Given the description of an element on the screen output the (x, y) to click on. 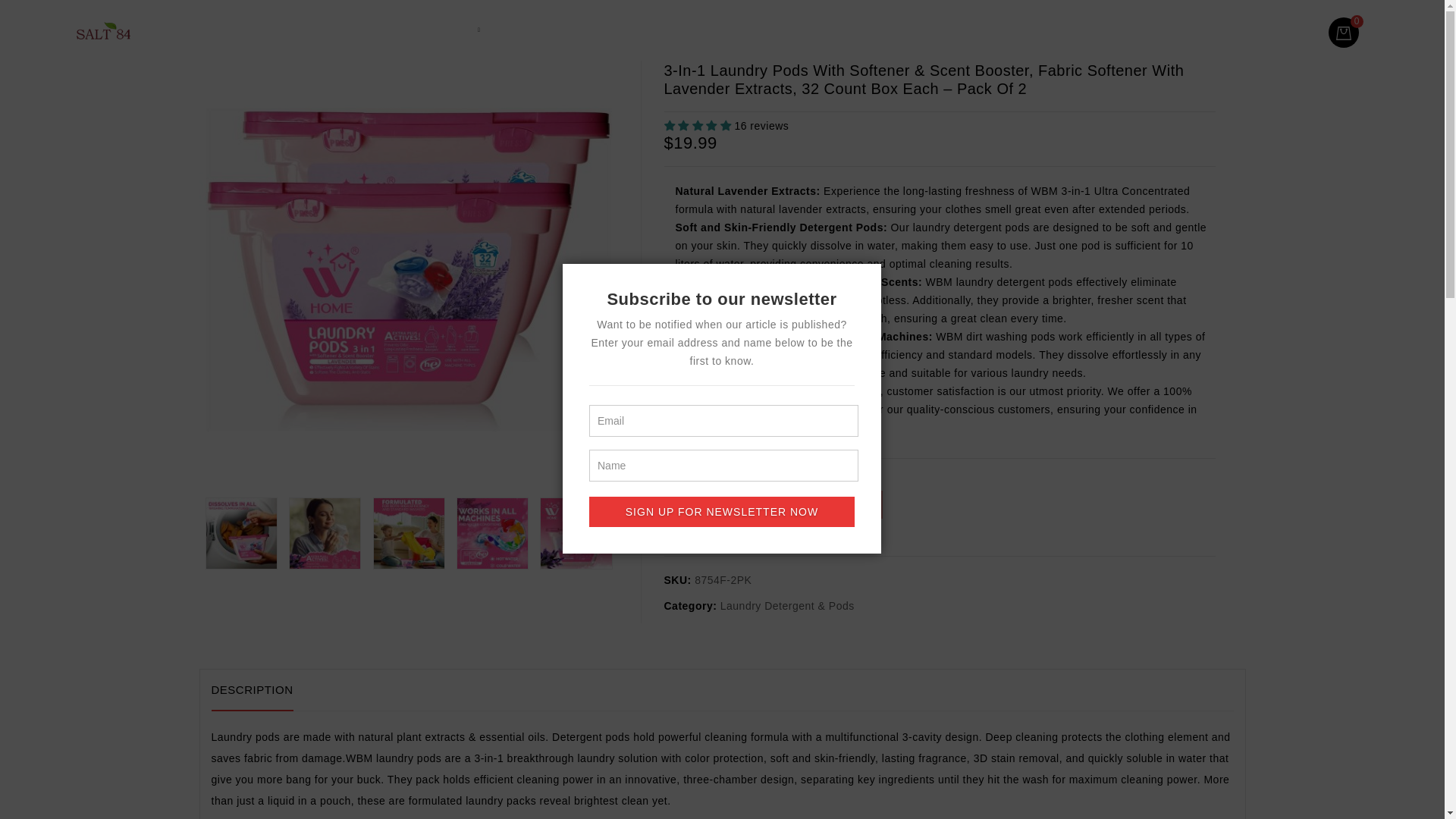
Email (724, 420)
Home (352, 30)
- (703, 503)
Salt84 Shop (439, 30)
Qty (737, 503)
1 (737, 503)
Name (724, 465)
View your shopping cart (1344, 32)
